Given the description of an element on the screen output the (x, y) to click on. 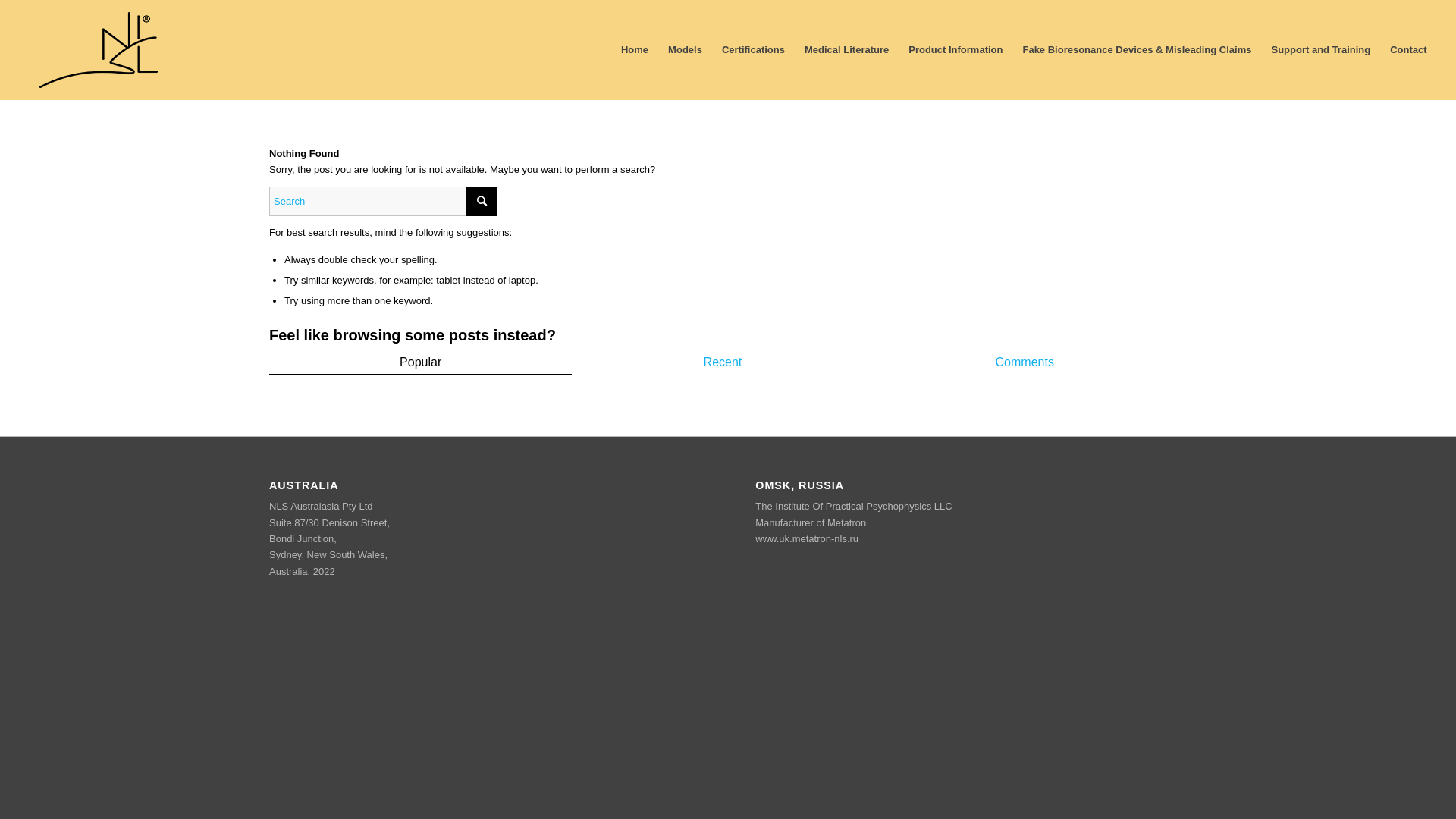
Product Information Element type: text (955, 49)
Models Element type: text (685, 49)
Support and Training Element type: text (1320, 49)
Medical Literature Element type: text (846, 49)
Fake Bioresonance Devices & Misleading Claims Element type: text (1136, 49)
Contact Element type: text (1403, 49)
Certifications Element type: text (753, 49)
Home Element type: text (634, 49)
